Given the description of an element on the screen output the (x, y) to click on. 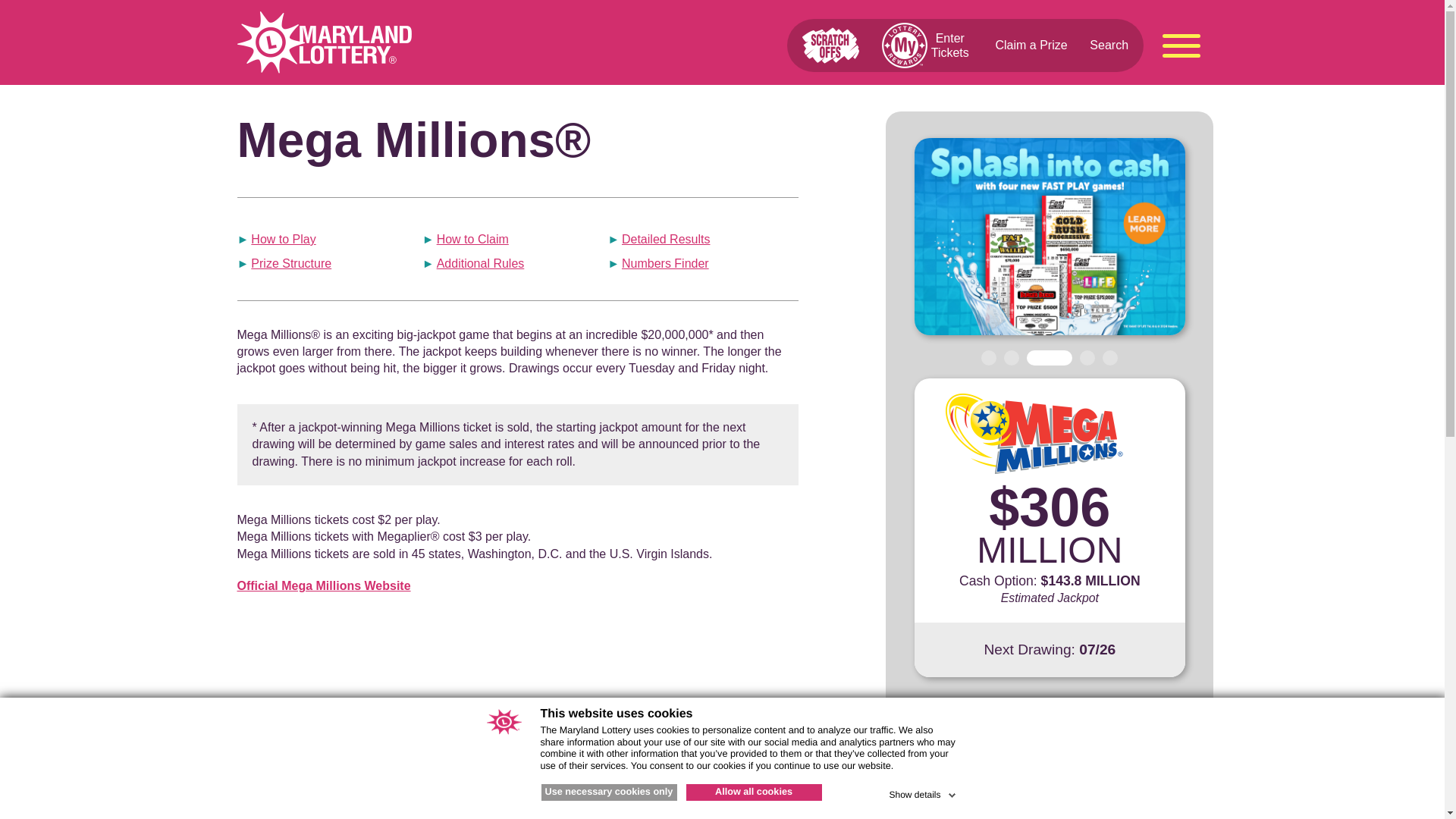
Show details (923, 791)
Allow all cookies (753, 791)
Use necessary cookies only (609, 791)
